Given the description of an element on the screen output the (x, y) to click on. 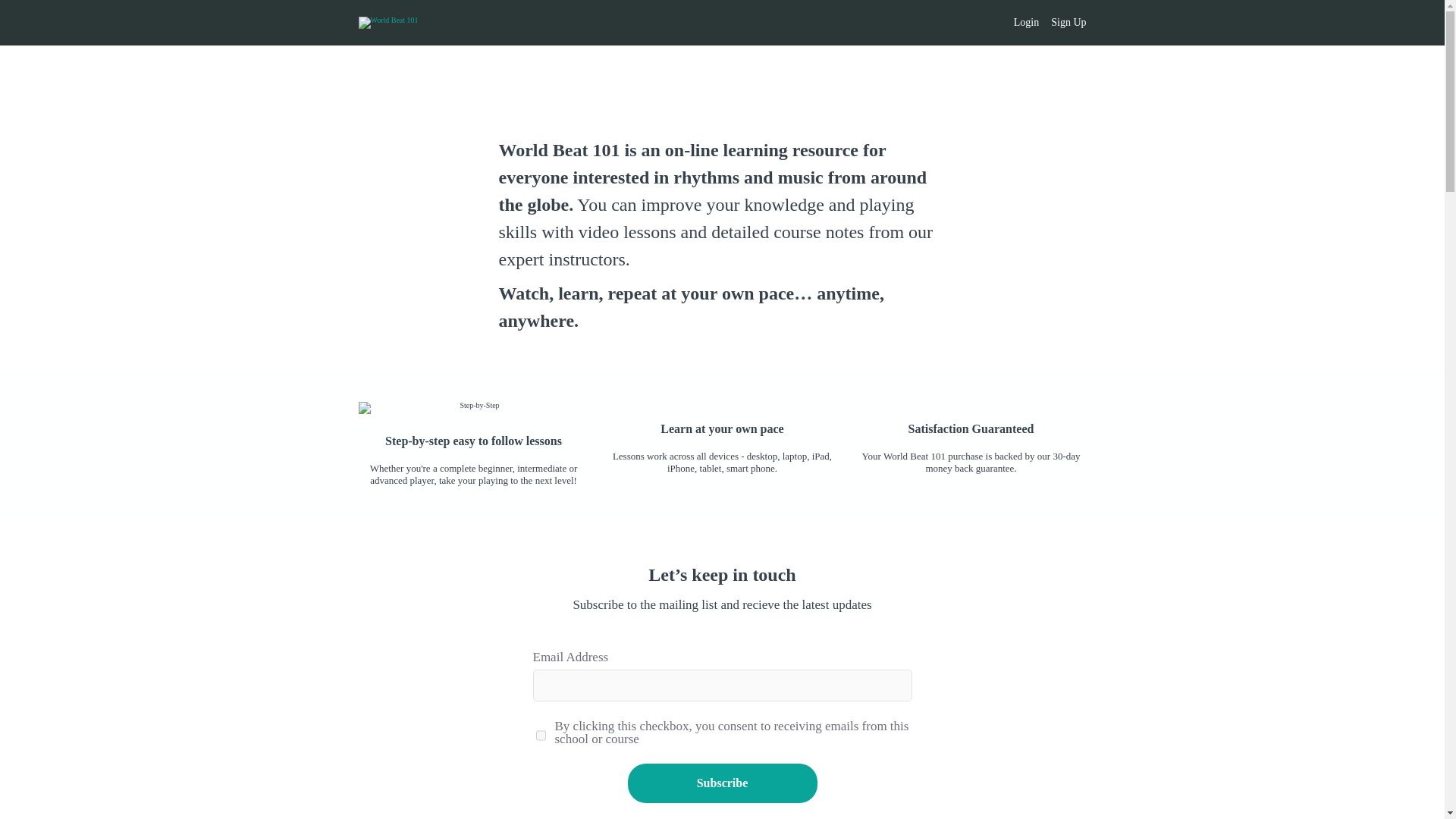
Login (1026, 22)
Sign Up (1068, 22)
Subscribe (721, 783)
